Given the description of an element on the screen output the (x, y) to click on. 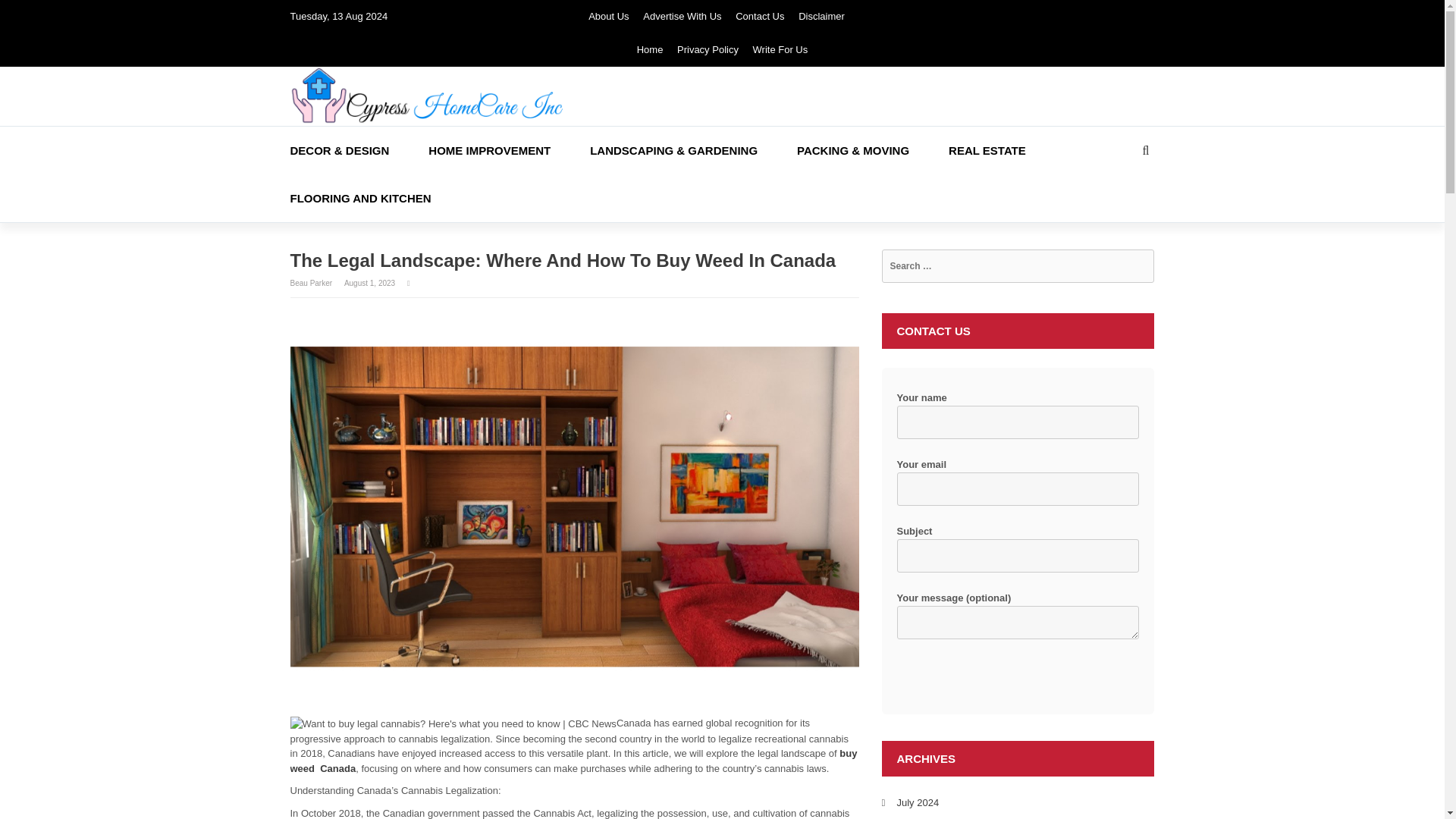
buy weed  Canada (573, 760)
Home (650, 49)
Write For Us (780, 49)
Search (40, 15)
July 2024 (917, 802)
Home Improvement (508, 150)
REAL ESTATE (1007, 150)
Contact Us (759, 16)
Disclaimer (820, 16)
About Us (608, 16)
